Given the description of an element on the screen output the (x, y) to click on. 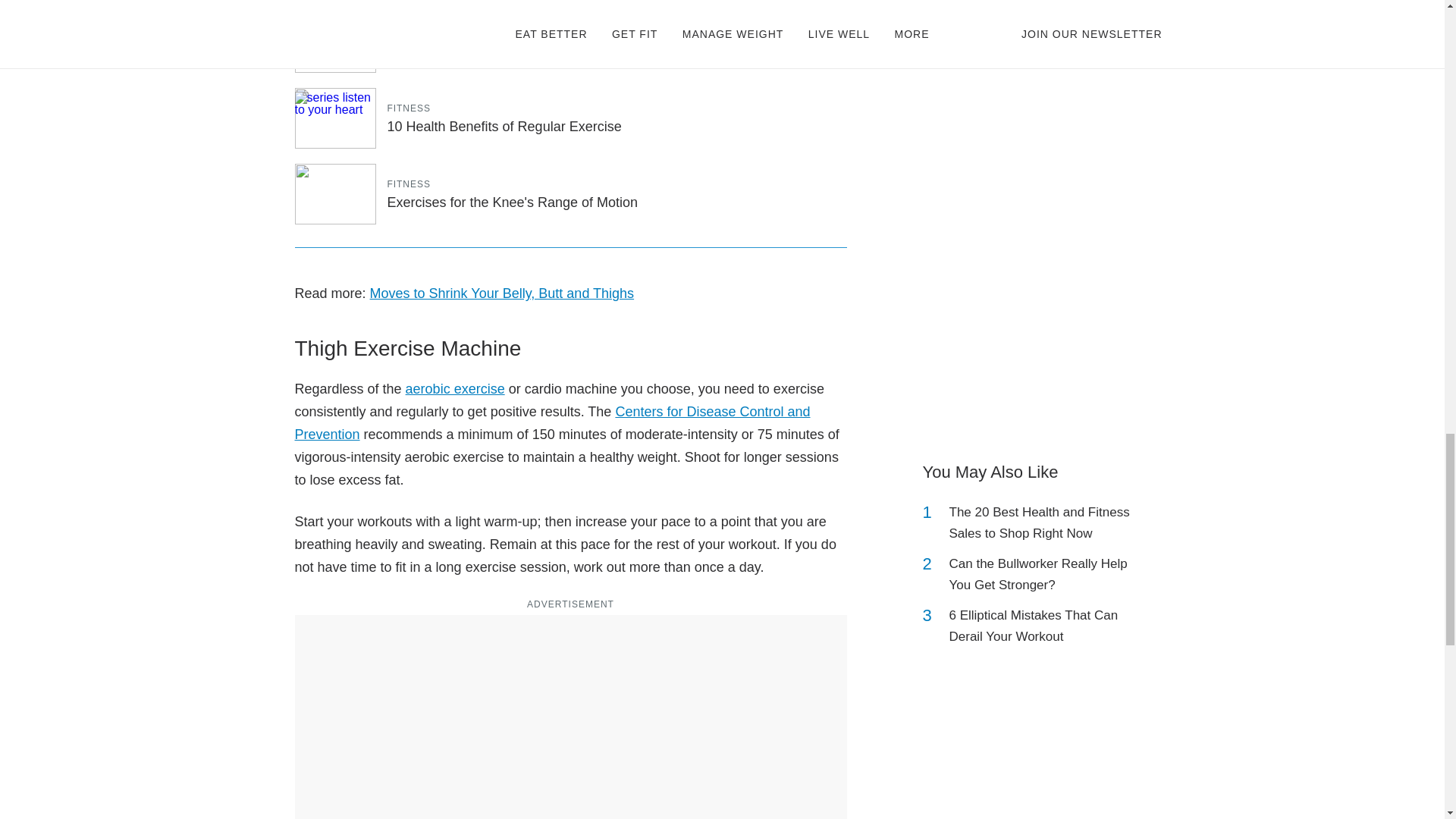
6 Elliptical Mistakes That Can Derail Your Workout (1042, 626)
10 Health Benefits of Regular Exercise (504, 126)
Exercises for the Knee's Range of Motion (512, 201)
Centers for Disease Control and Prevention (551, 423)
The 20 Best Health and Fitness Sales to Shop Right Now (1042, 523)
Can the Bullworker Really Help You Get Stronger? (1042, 574)
Moves to Shrink Your Belly, Butt and Thighs (501, 293)
aerobic exercise (455, 388)
